Given the description of an element on the screen output the (x, y) to click on. 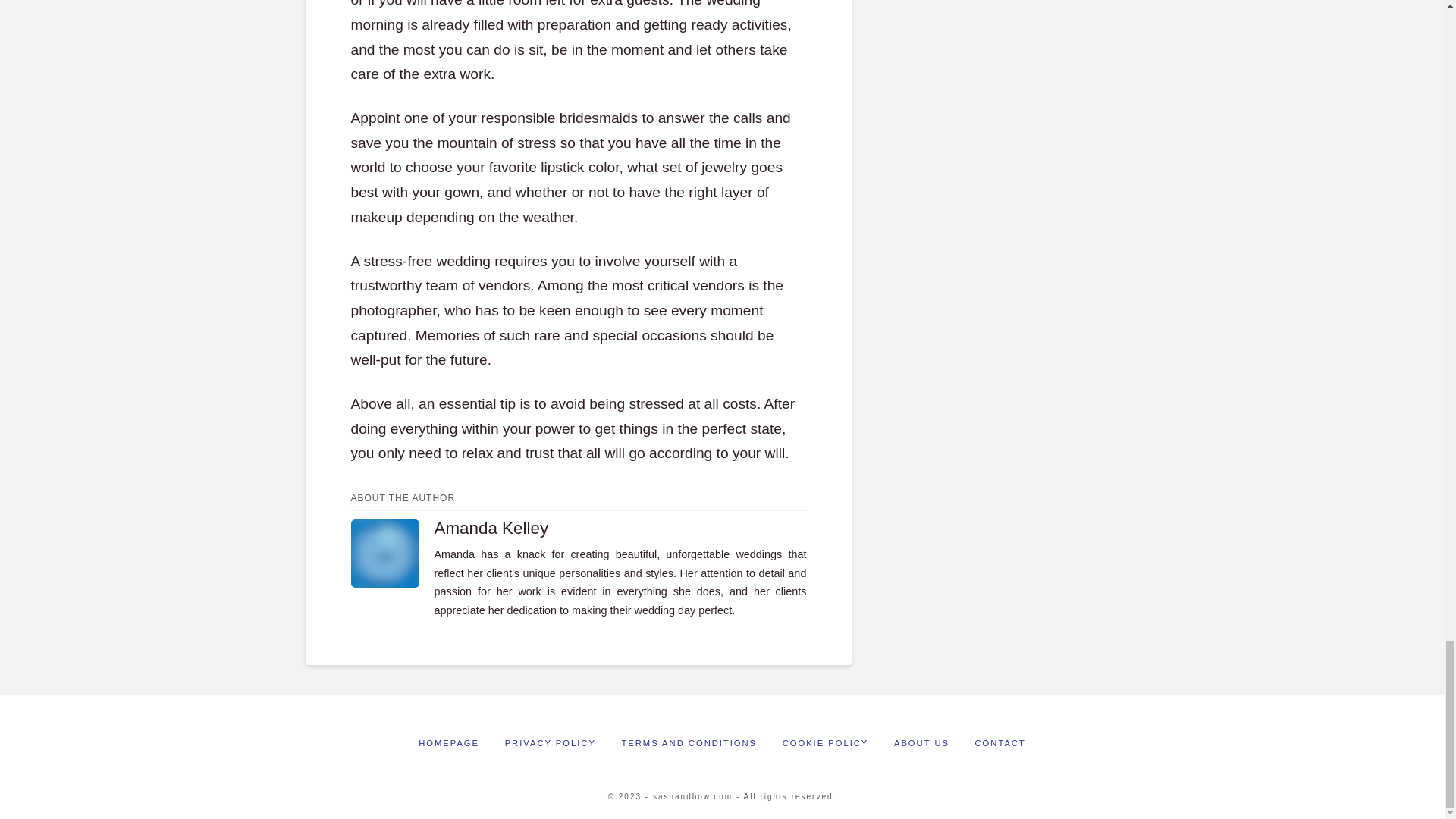
CONTACT (1000, 743)
COOKIE POLICY (826, 743)
ABOUT US (921, 743)
PRIVACY POLICY (550, 743)
TERMS AND CONDITIONS (689, 743)
HOMEPAGE (449, 743)
